Given the description of an element on the screen output the (x, y) to click on. 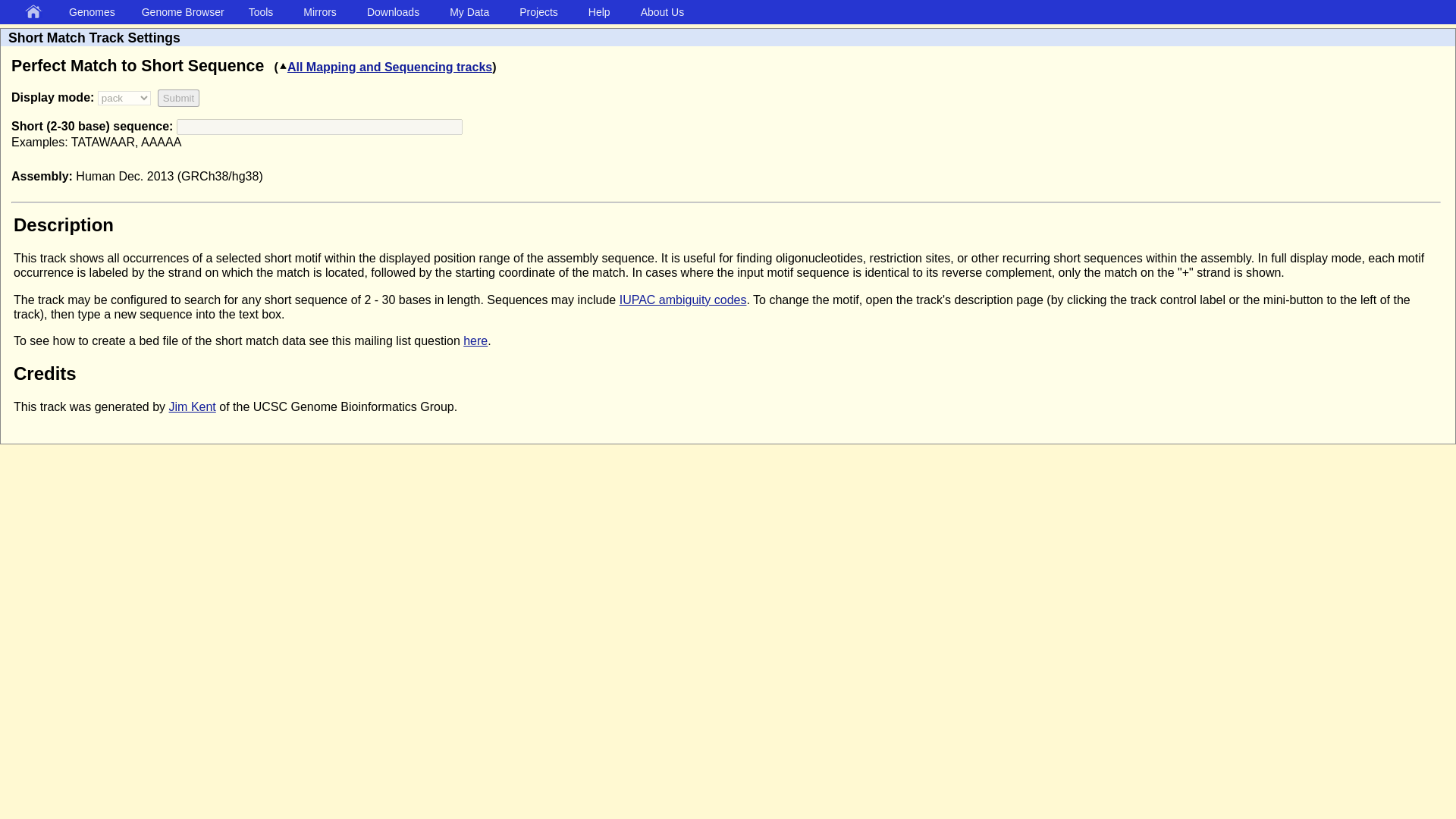
Mapping and Sequencing tracks in track configuration page (385, 66)
Genomes (94, 11)
Submit (178, 98)
Genome Browser (185, 11)
Home (36, 12)
